Given the description of an element on the screen output the (x, y) to click on. 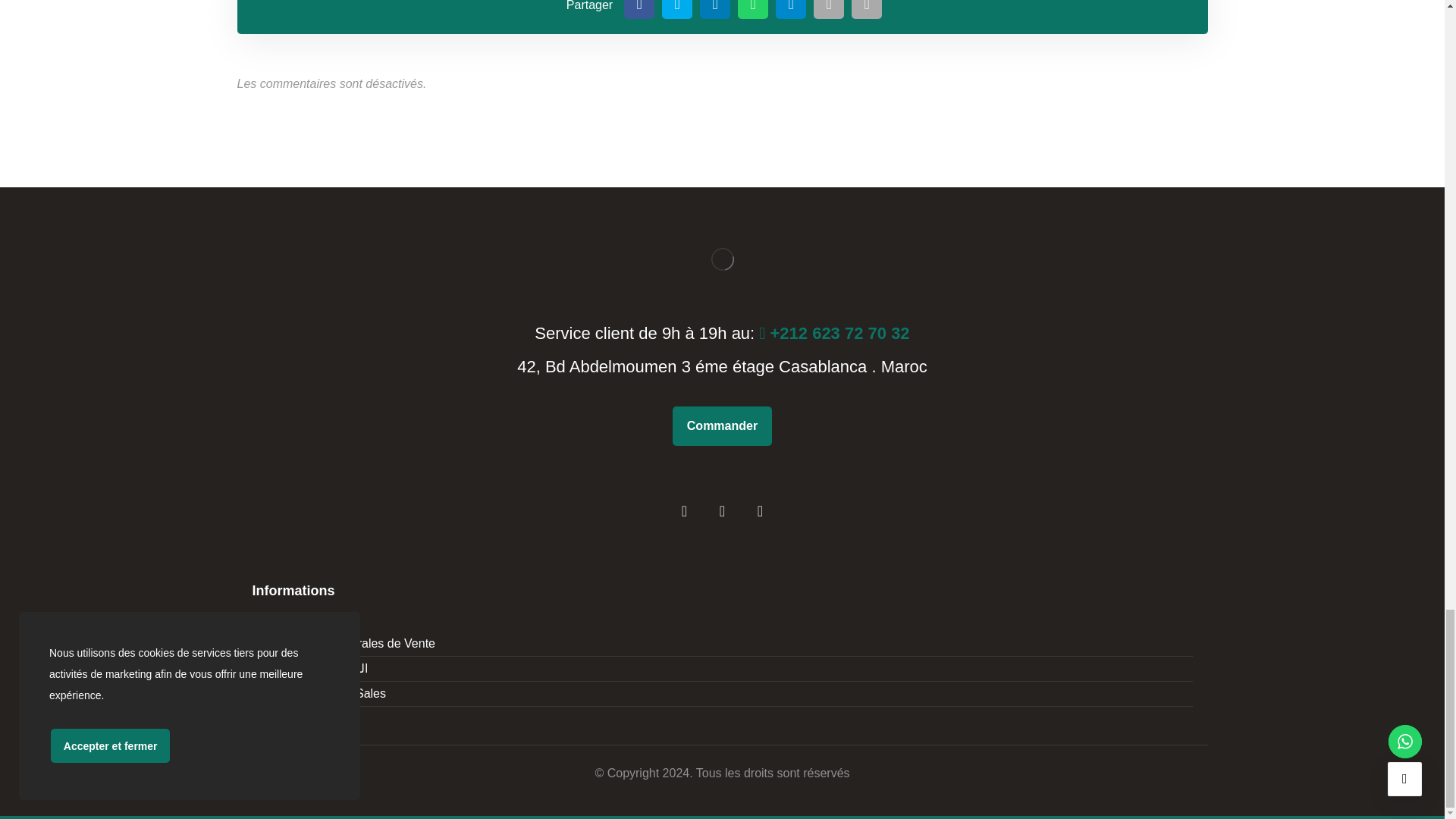
Share on Linkedin (715, 9)
Share by Whatsapp (753, 9)
Share on Facebook (638, 9)
Share by Telegram (791, 9)
Share by Email (828, 9)
Copy  Shortlink (866, 9)
Share on Twitter (677, 9)
